Given the description of an element on the screen output the (x, y) to click on. 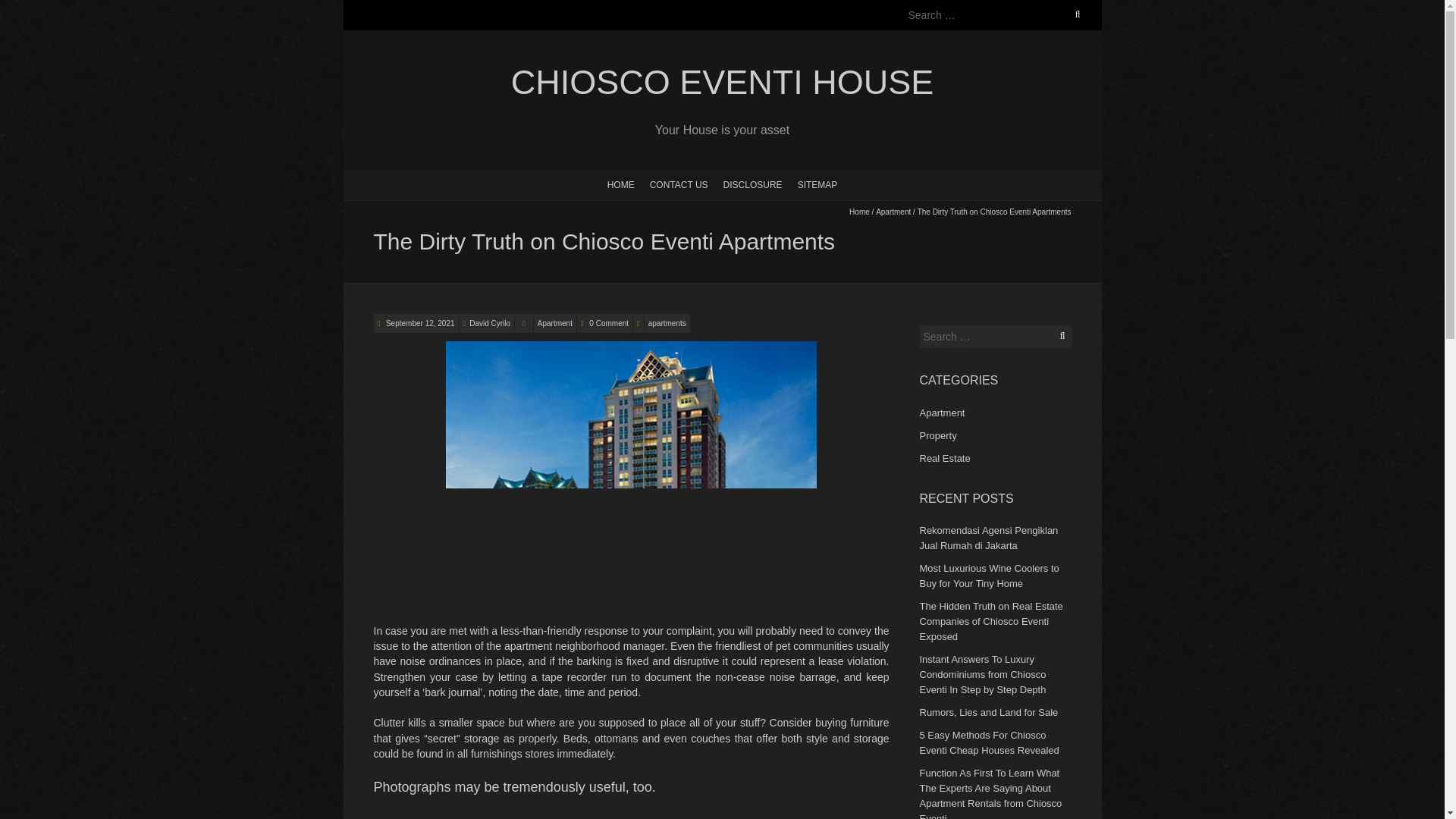
0 Comment (608, 323)
CHIOSCO EVENTI HOUSE (721, 82)
Apartment (940, 412)
Real Estate (943, 458)
HOME (620, 184)
SITEMAP (817, 184)
DISCLOSURE (753, 184)
Search (28, 9)
Category (523, 322)
Home (858, 212)
David Cyrilo (489, 323)
View all posts by David Cyrilo (489, 323)
September 12, 2021 (419, 323)
CONTACT US (679, 184)
Rekomendasi Agensi Pengiklan Jual Rumah di Jakarta (988, 537)
